Given the description of an element on the screen output the (x, y) to click on. 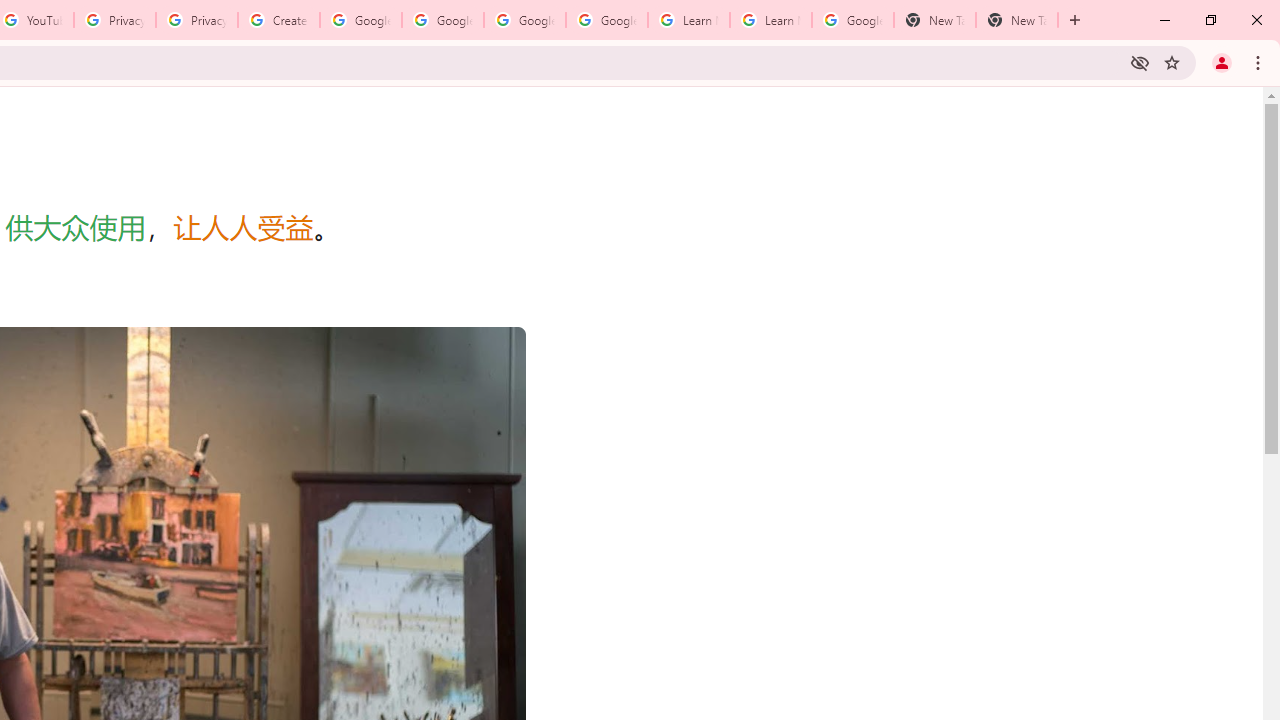
Chrome (1260, 62)
Restore (1210, 20)
Minimize (1165, 20)
You (1221, 62)
